Given the description of an element on the screen output the (x, y) to click on. 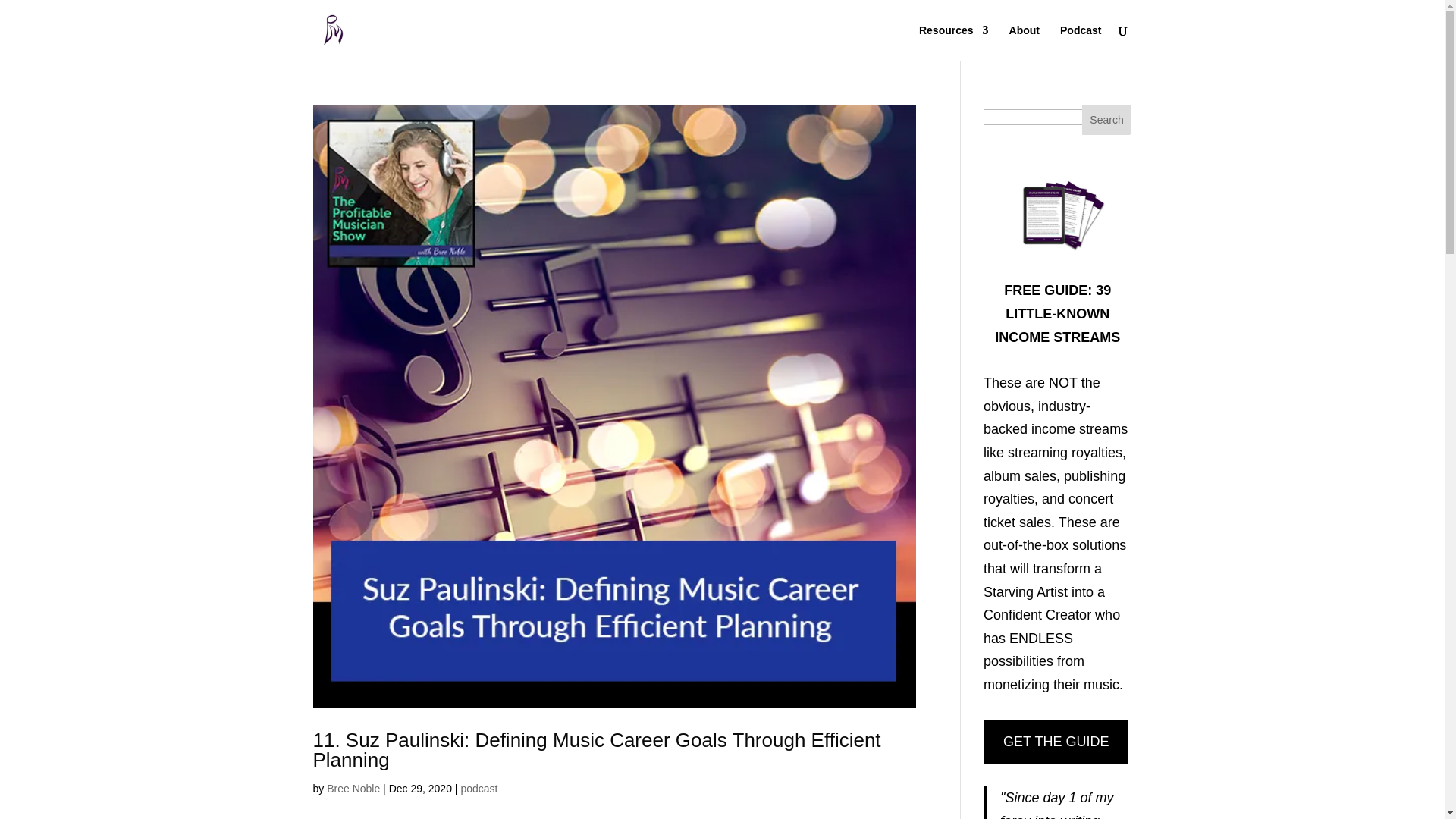
About (1024, 42)
GET THE GUIDE (1056, 741)
podcast (478, 788)
Resources (953, 42)
Search (1106, 119)
Podcast (1079, 42)
Search (1106, 119)
Bree Noble (353, 788)
